Given the description of an element on the screen output the (x, y) to click on. 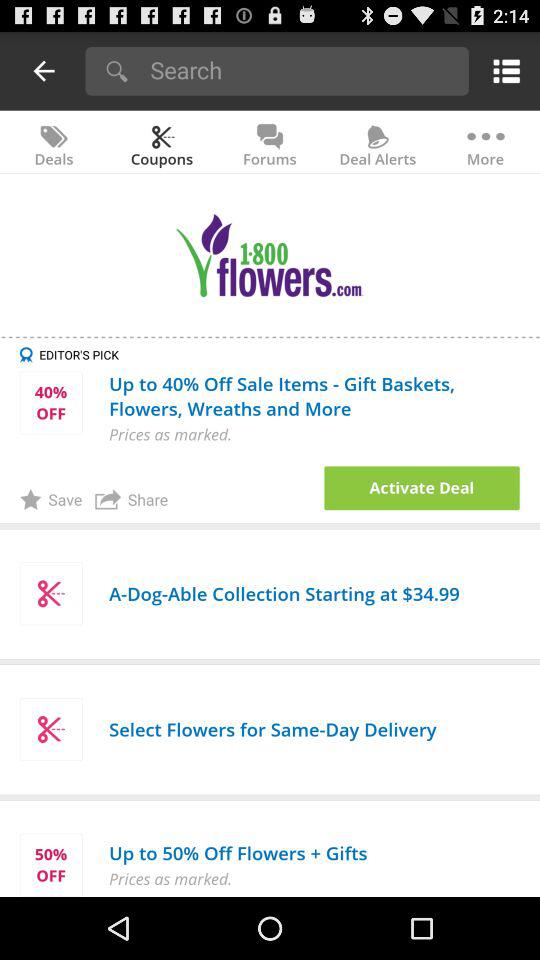
search button (302, 69)
